Given the description of an element on the screen output the (x, y) to click on. 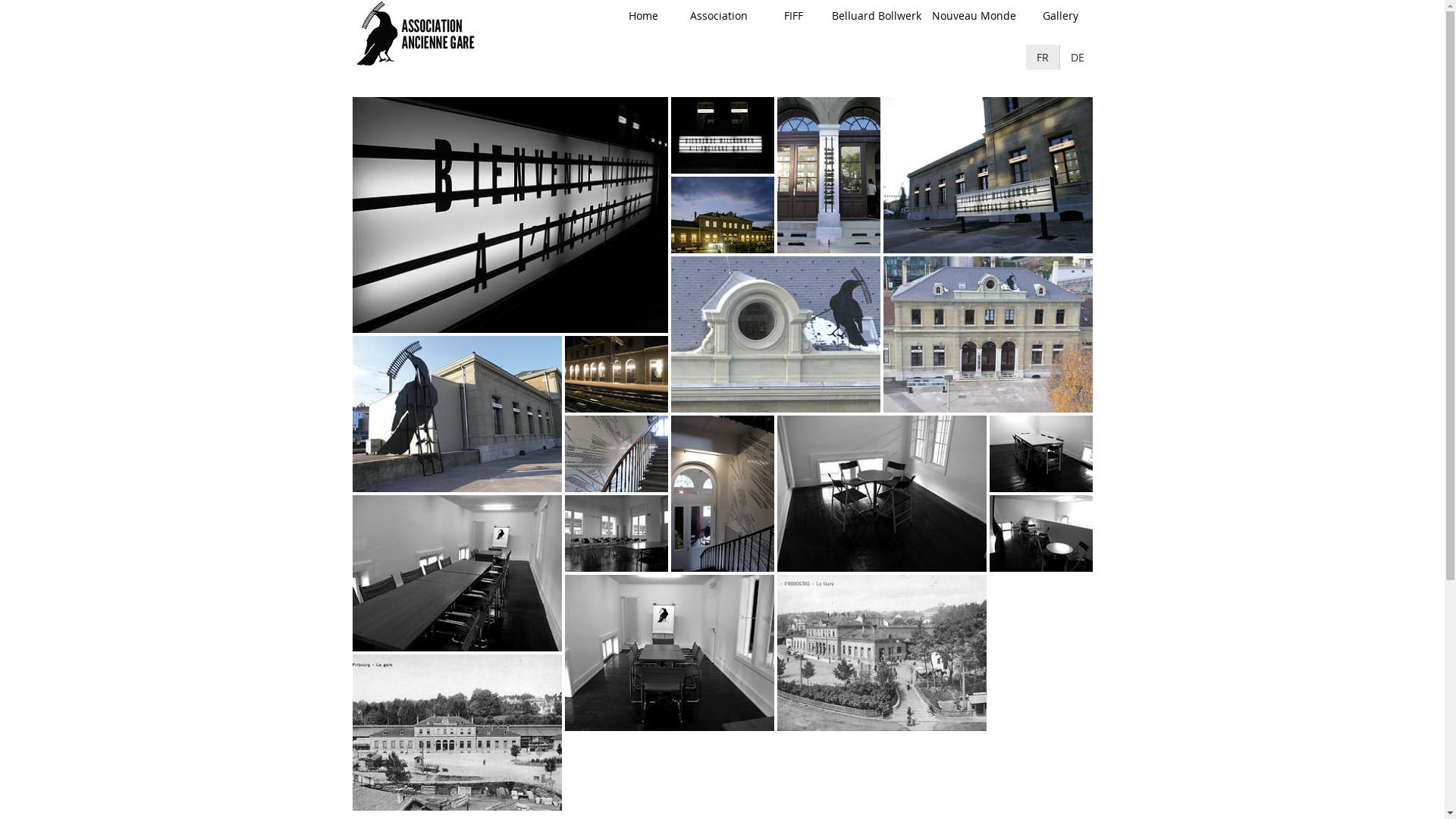
FIFF Element type: text (792, 15)
Belluard Bollwerk Element type: text (876, 15)
FR Element type: text (1041, 56)
Association Element type: text (718, 15)
Nouveau Monde Element type: text (973, 15)
Gallery Element type: text (1060, 15)
DE Element type: text (1076, 56)
Home Element type: text (642, 15)
